Given the description of an element on the screen output the (x, y) to click on. 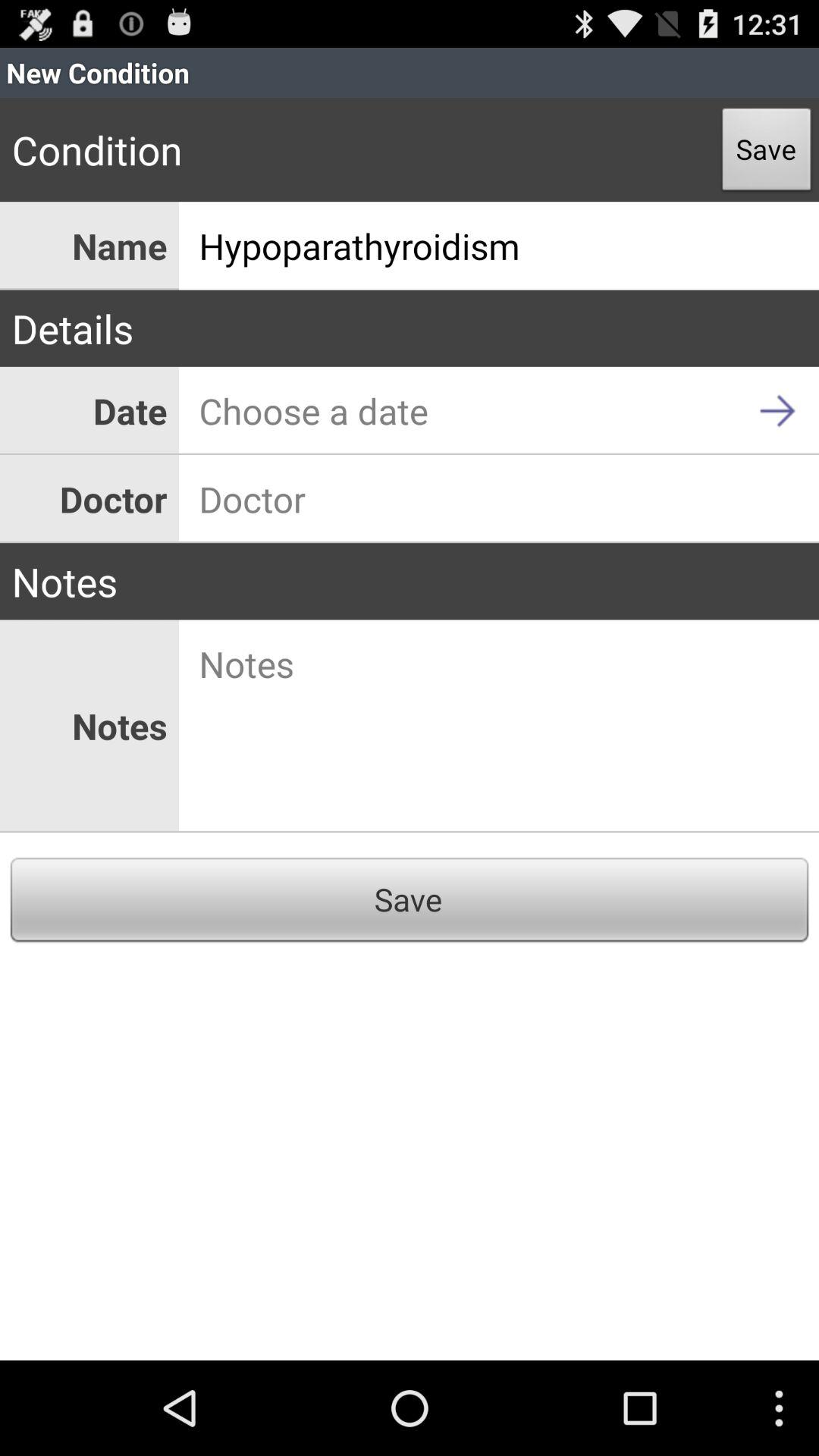
write coments (499, 725)
